Given the description of an element on the screen output the (x, y) to click on. 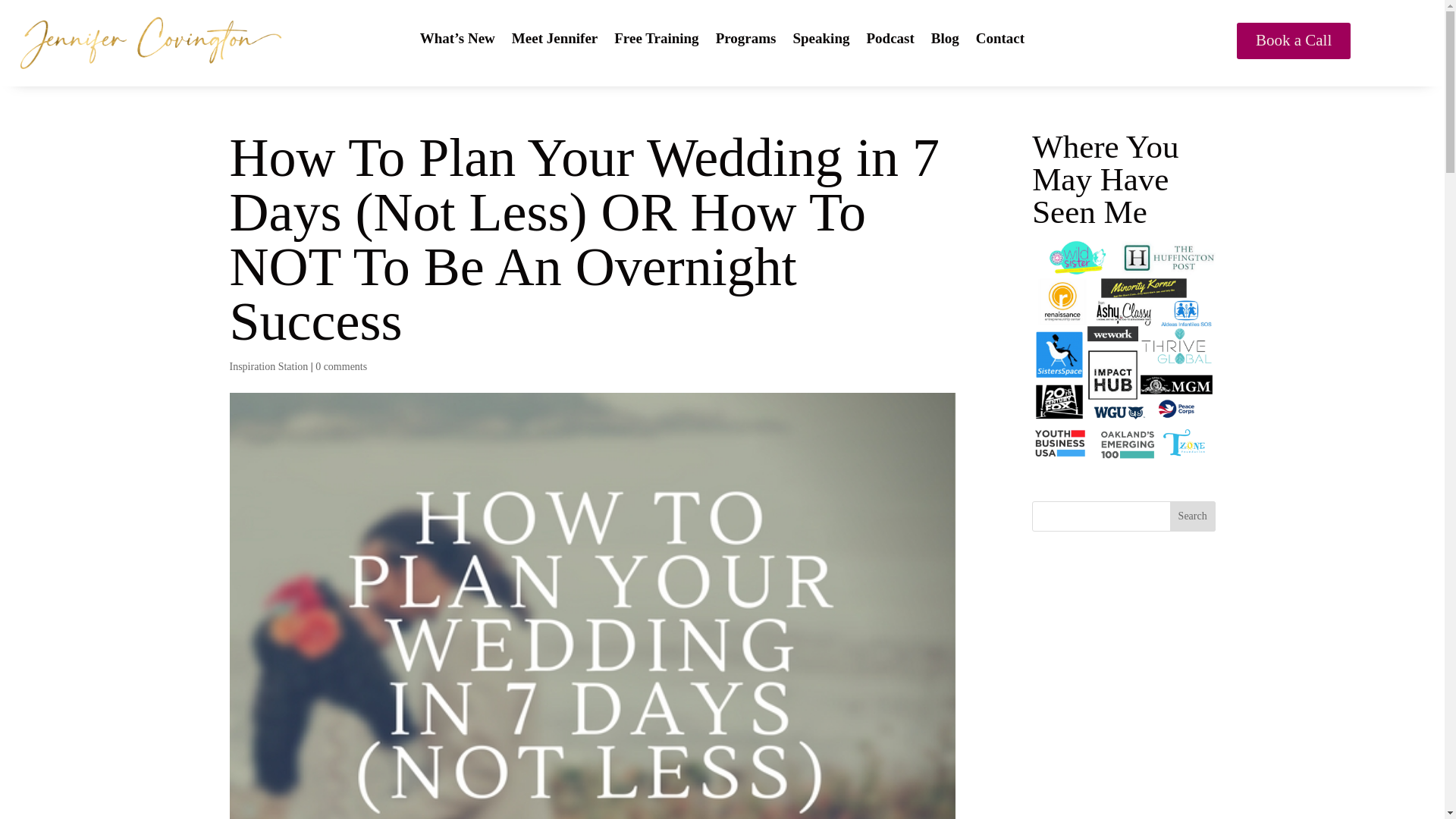
Search (1192, 516)
Blog (945, 41)
Speaking (820, 41)
Free Training (656, 41)
Search (1192, 516)
Contact (1000, 41)
Meet Jennifer (554, 41)
Programs (746, 41)
Inspiration Station (267, 366)
Logo Gold (150, 43)
0 comments (340, 366)
Podcast (890, 41)
Book a Call (1293, 40)
